Given the description of an element on the screen output the (x, y) to click on. 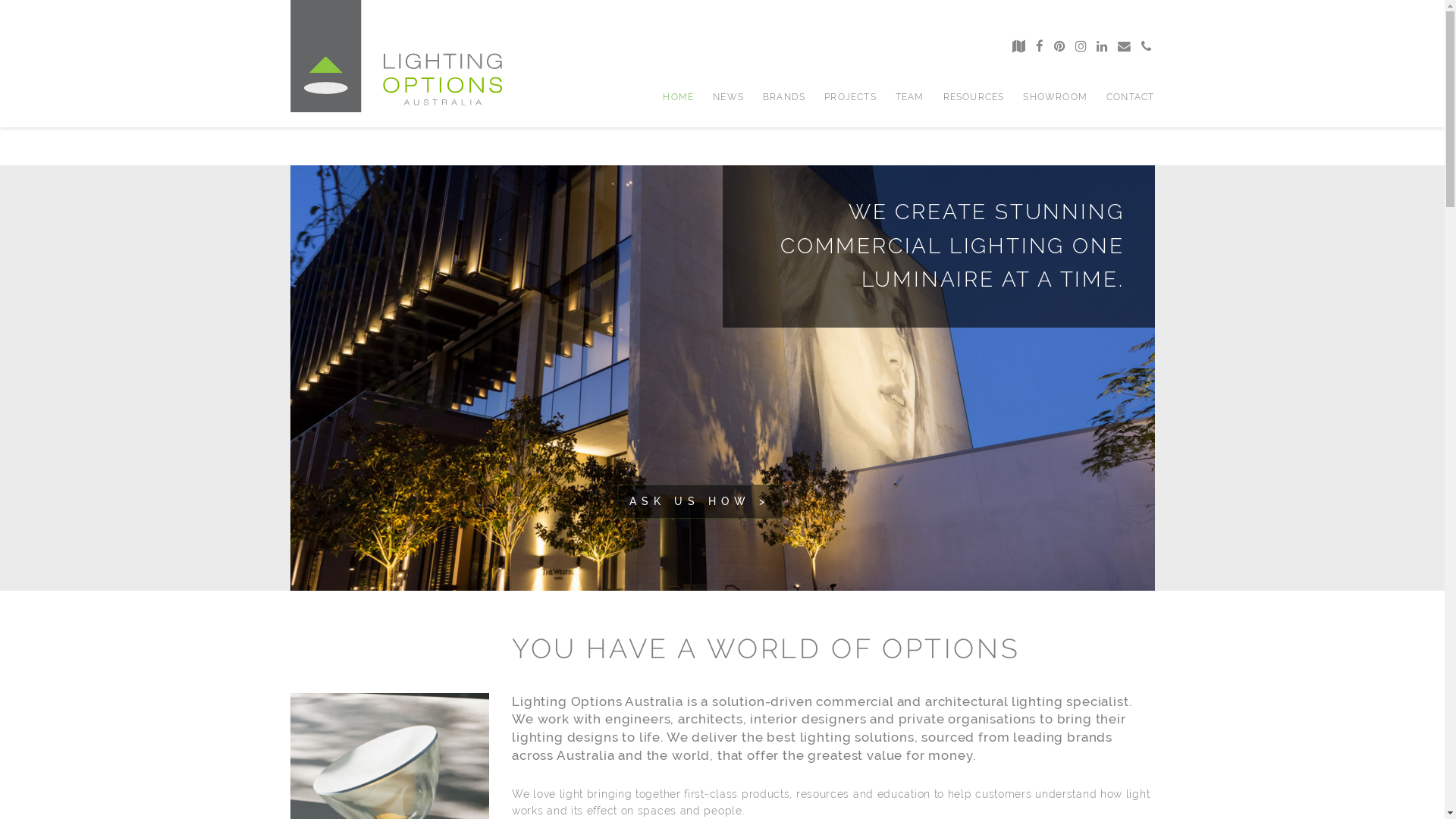
NEWS Element type: text (727, 96)
PROJECTS Element type: text (850, 96)
BRANDS Element type: text (783, 96)
Click to call us Element type: hover (1145, 45)
CONTACT Element type: text (1130, 96)
Click here to return home. Element type: hover (395, 56)
RESOURCES Element type: text (973, 96)
ASK US HOW > Element type: text (699, 500)
SHOWROOM Element type: text (1054, 96)
TEAM Element type: text (909, 96)
HOME Element type: text (677, 96)
